Given the description of an element on the screen output the (x, y) to click on. 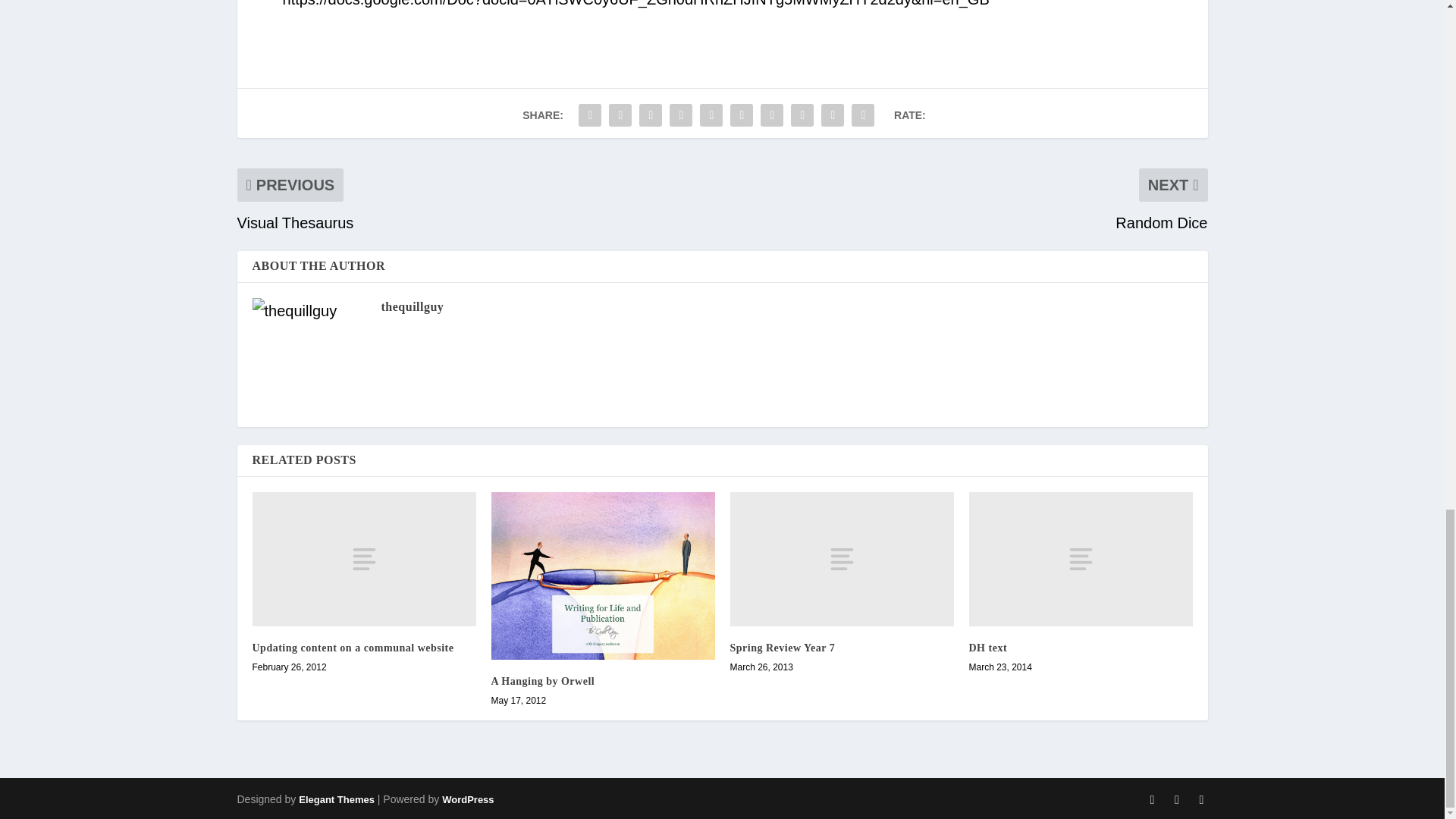
Share "Daily Cultural Capital" via Tumblr (680, 114)
Share "Daily Cultural Capital" via LinkedIn (741, 114)
Share "Daily Cultural Capital" via Stumbleupon (801, 114)
Share "Daily Cultural Capital" via Facebook (590, 114)
Share "Daily Cultural Capital" via Twitter (619, 114)
Share "Daily Cultural Capital" via Pinterest (710, 114)
Share "Daily Cultural Capital" via Buffer (772, 114)
